Given the description of an element on the screen output the (x, y) to click on. 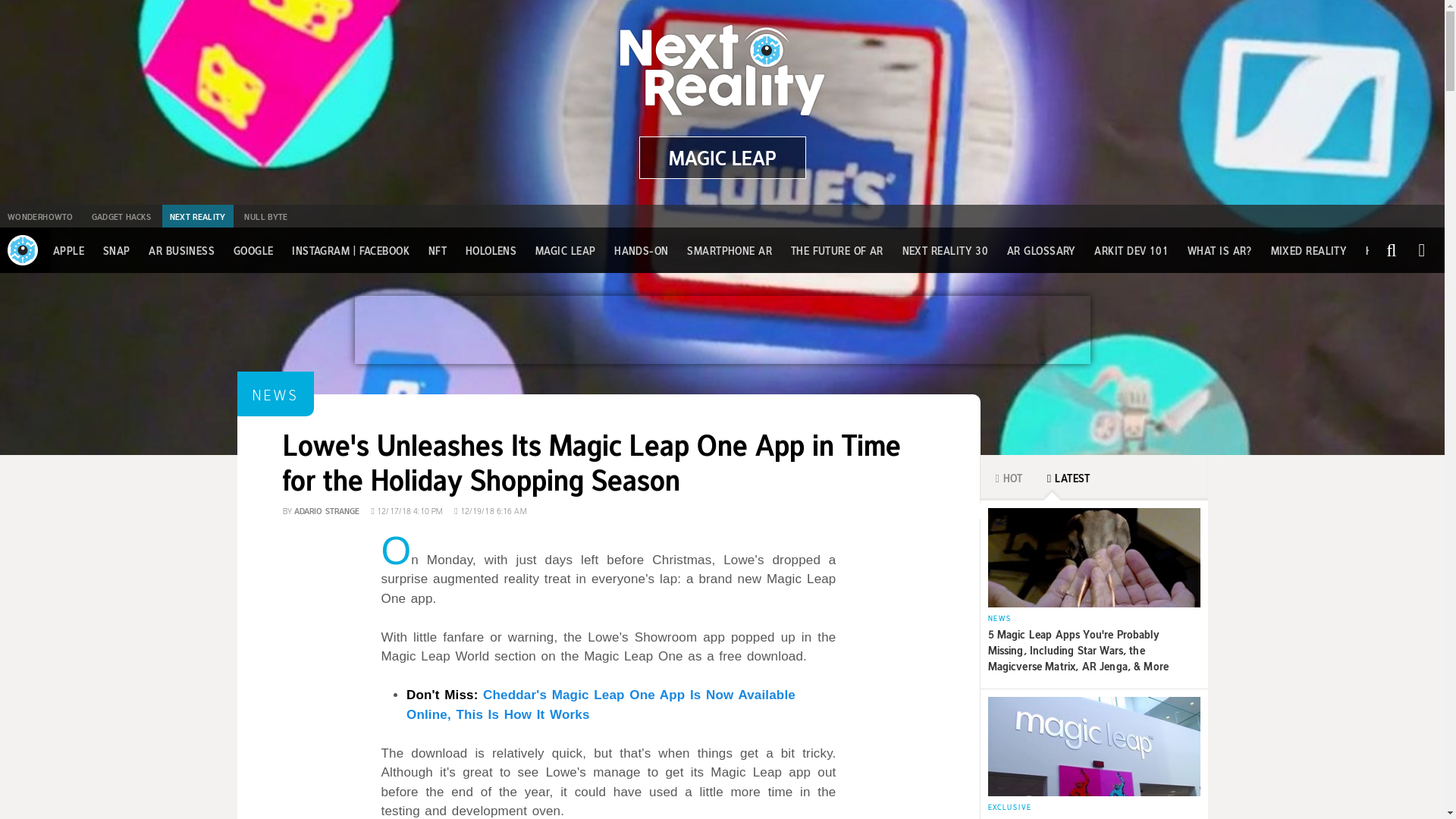
WONDERHOWTO (40, 215)
MAGIC LEAP (722, 157)
AR GLOSSARY (1041, 249)
Bringing the impossible worlds of our imagination to life. (722, 157)
GADGET HACKS (121, 215)
AR BUSINESS (181, 249)
HOLOLENS (490, 249)
WHAT IS AR? (1220, 249)
NEXT REALITY 30 (945, 249)
ARKIT DEV 101 (1131, 249)
THE FUTURE OF AR (836, 249)
NEXT REALITY (196, 215)
MAGIC LEAP (565, 249)
